Given the description of an element on the screen output the (x, y) to click on. 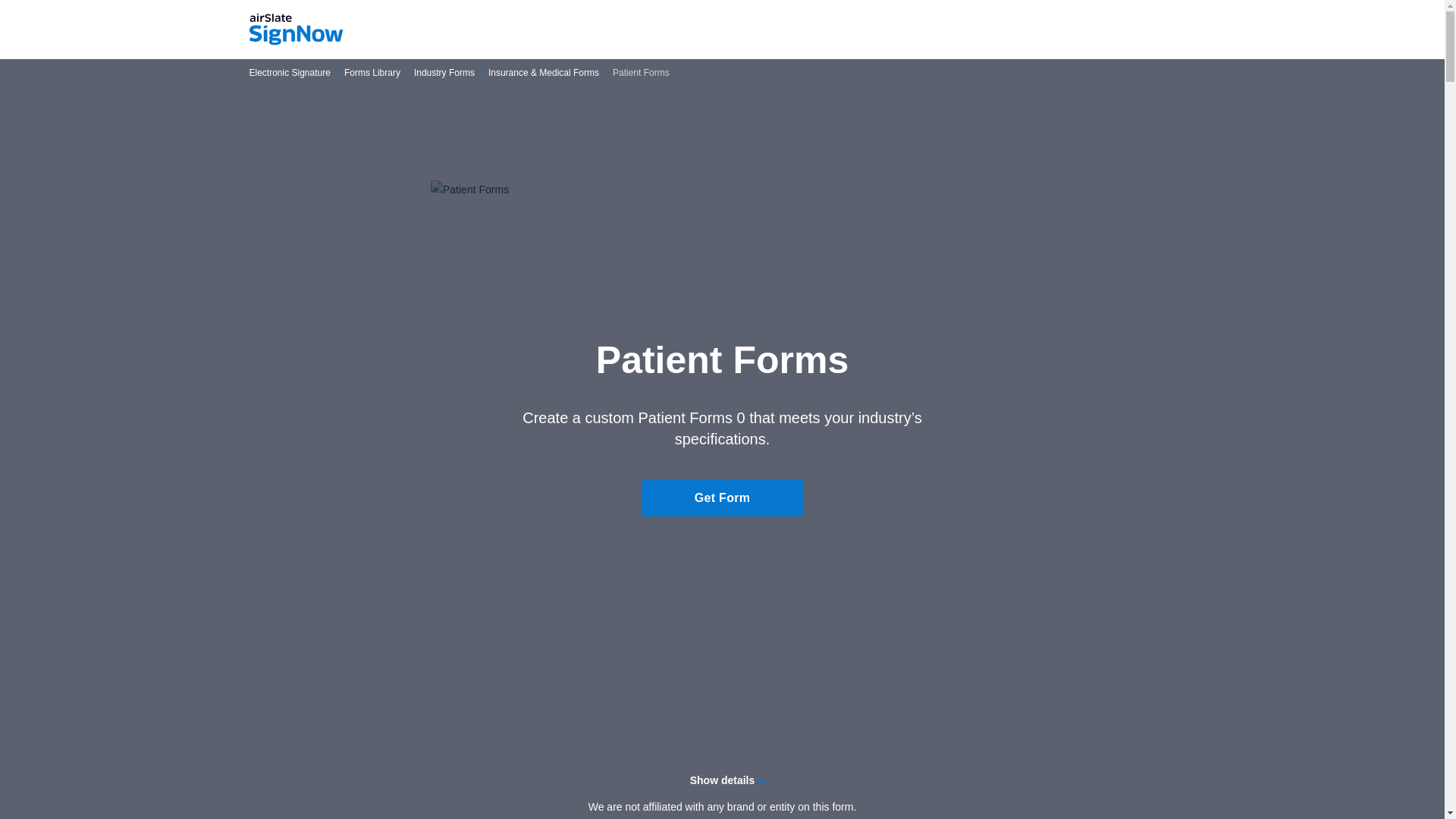
Electronic Signature (289, 73)
Show details (722, 780)
Industry Forms (443, 73)
Get Form (722, 497)
Forms Library (371, 73)
signNow (295, 29)
